Given the description of an element on the screen output the (x, y) to click on. 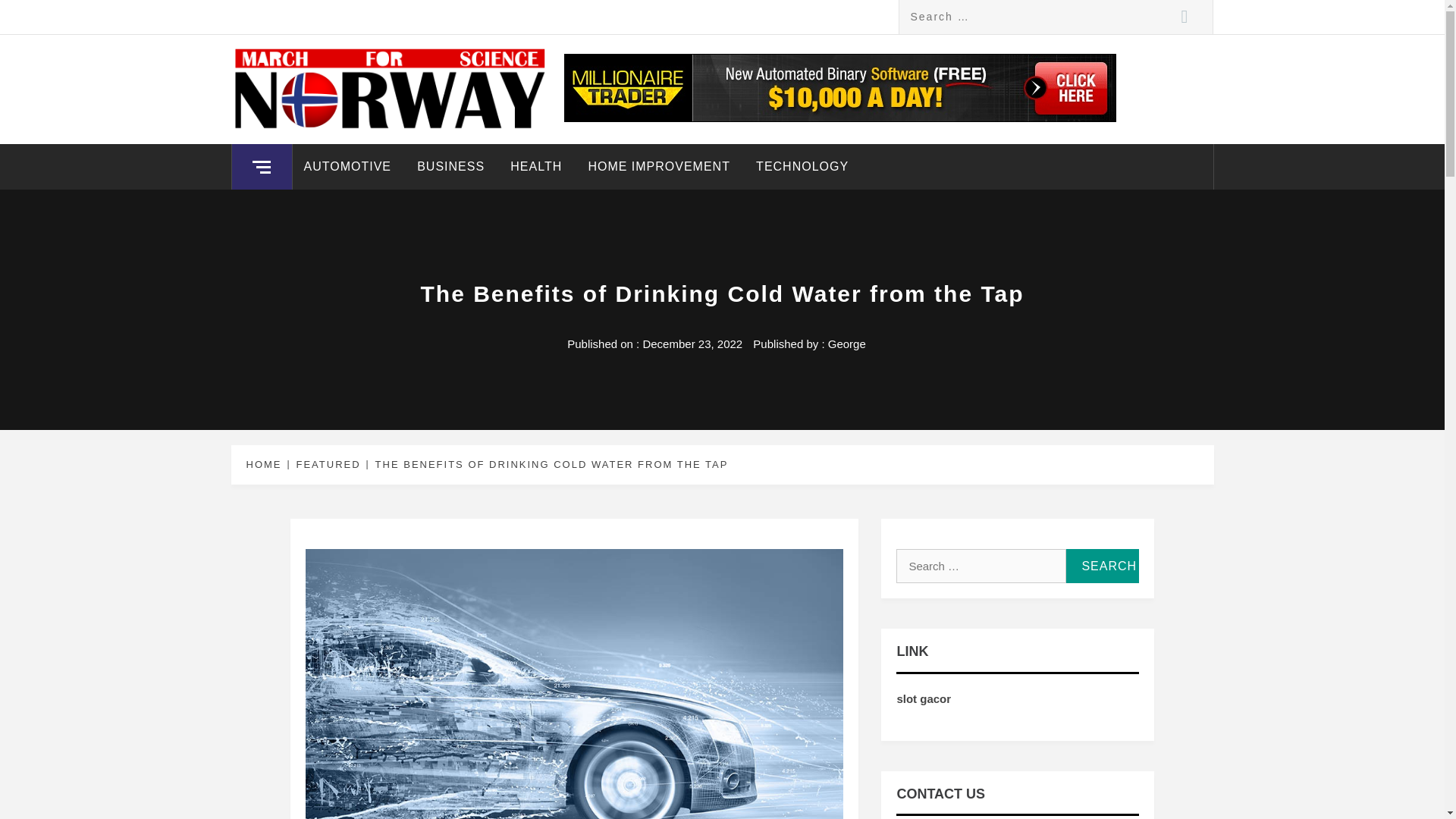
Search (1101, 565)
Search (1101, 565)
Search (1184, 17)
December 23, 2022 (692, 343)
March for Science Norway (434, 70)
HOME (266, 464)
George (847, 343)
Search (1101, 565)
HOME IMPROVEMENT (658, 166)
slot gacor (923, 698)
AUTOMOTIVE (347, 166)
Search (1184, 17)
Search (1184, 17)
TECHNOLOGY (802, 166)
FEATURED (325, 464)
